Given the description of an element on the screen output the (x, y) to click on. 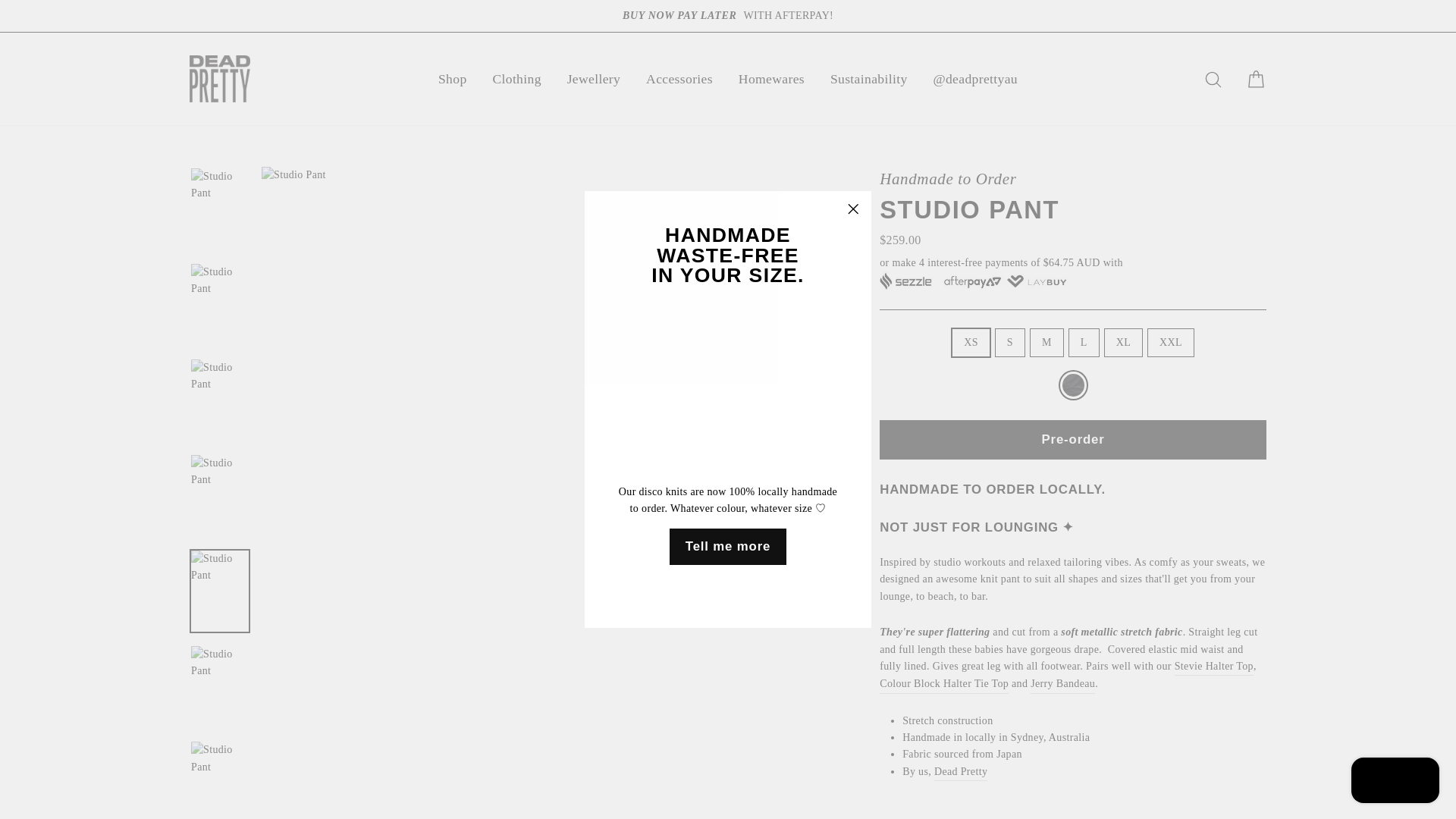
Shopify online store chat (1395, 781)
Shop (452, 79)
